Given the description of an element on the screen output the (x, y) to click on. 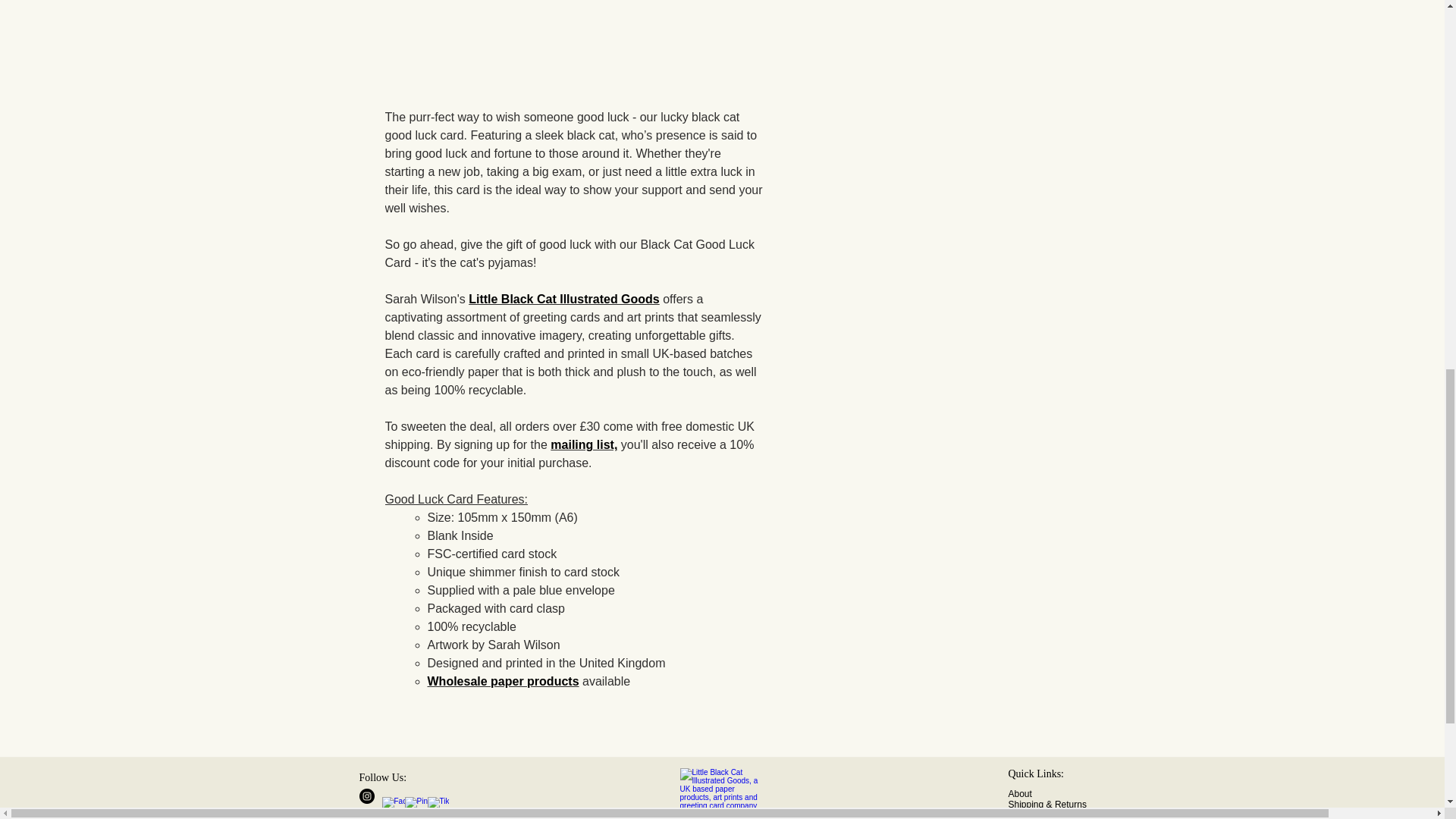
Wholesale paper products (503, 680)
Little Black Cat Illustrated Goods (563, 298)
mailing list, (583, 444)
